Given the description of an element on the screen output the (x, y) to click on. 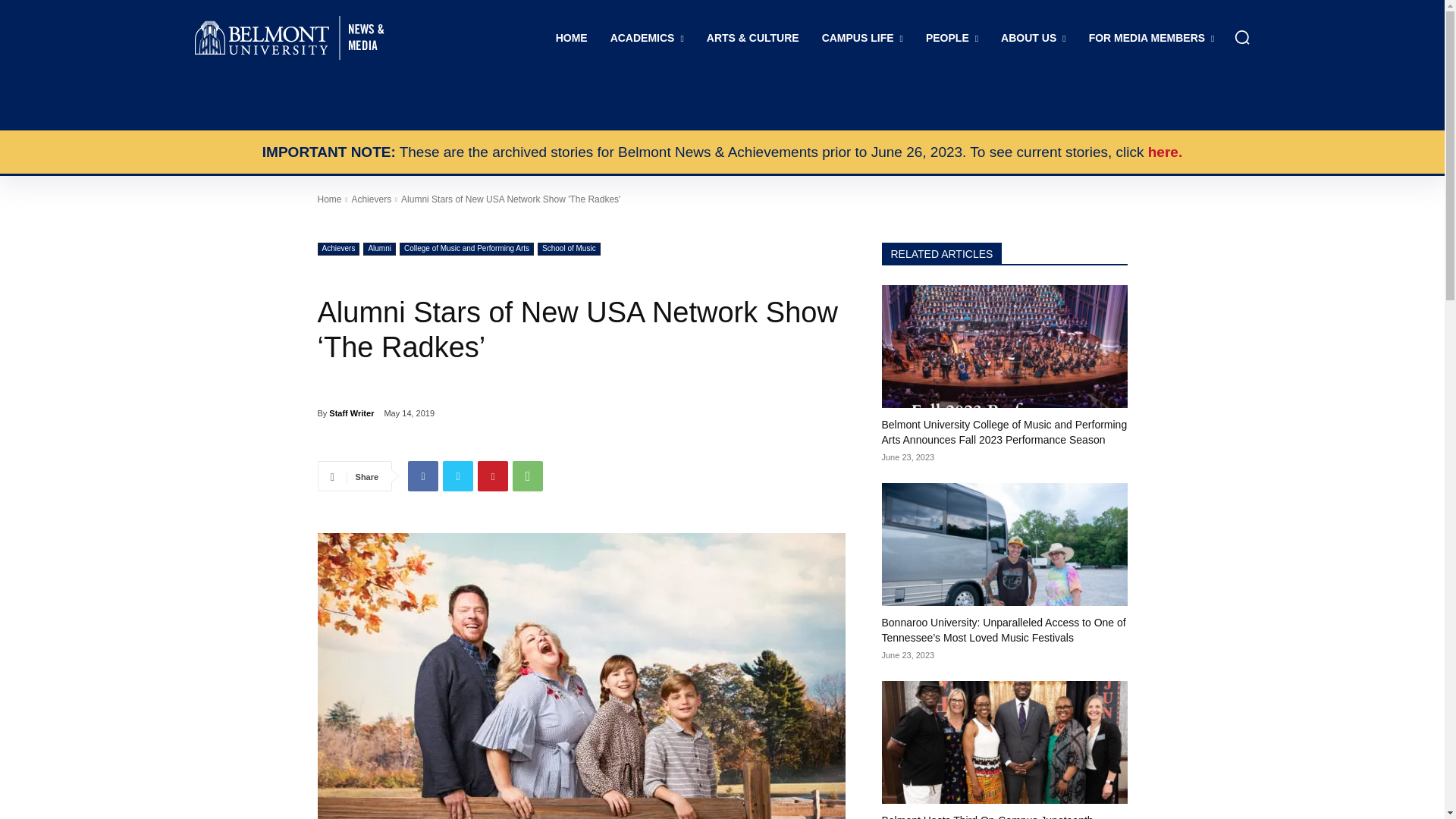
ACADEMICS (646, 38)
Twitter (457, 476)
Pinterest (492, 476)
Facebook (422, 476)
View all posts in Achievers (370, 199)
WhatsApp (527, 476)
